Given the description of an element on the screen output the (x, y) to click on. 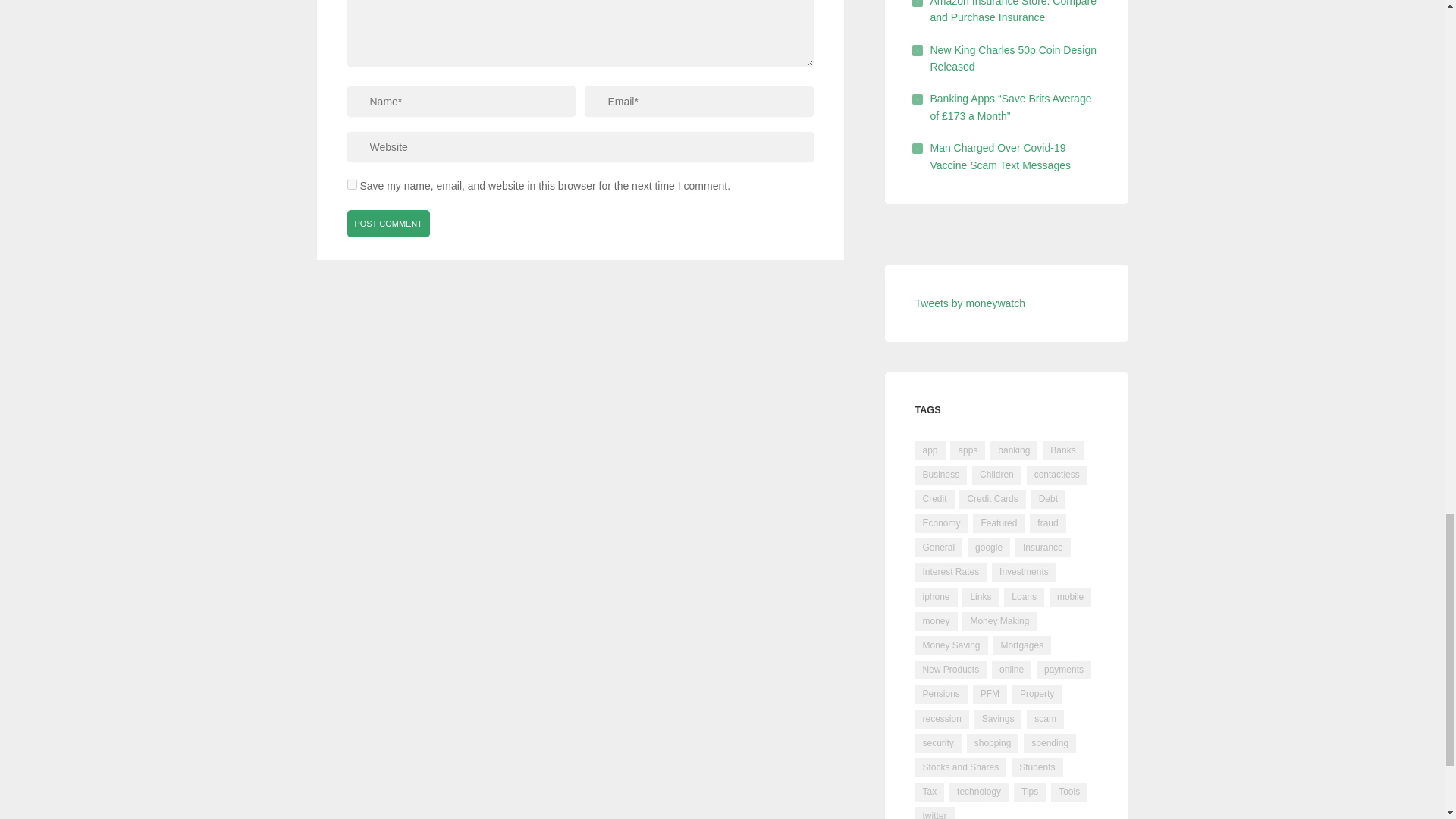
yes (351, 184)
Post Comment (388, 223)
Amazon Insurance Store: Compare and Purchase Insurance (1013, 11)
Post Comment (388, 223)
New King Charles 50p Coin Design Released (1013, 58)
